Given the description of an element on the screen output the (x, y) to click on. 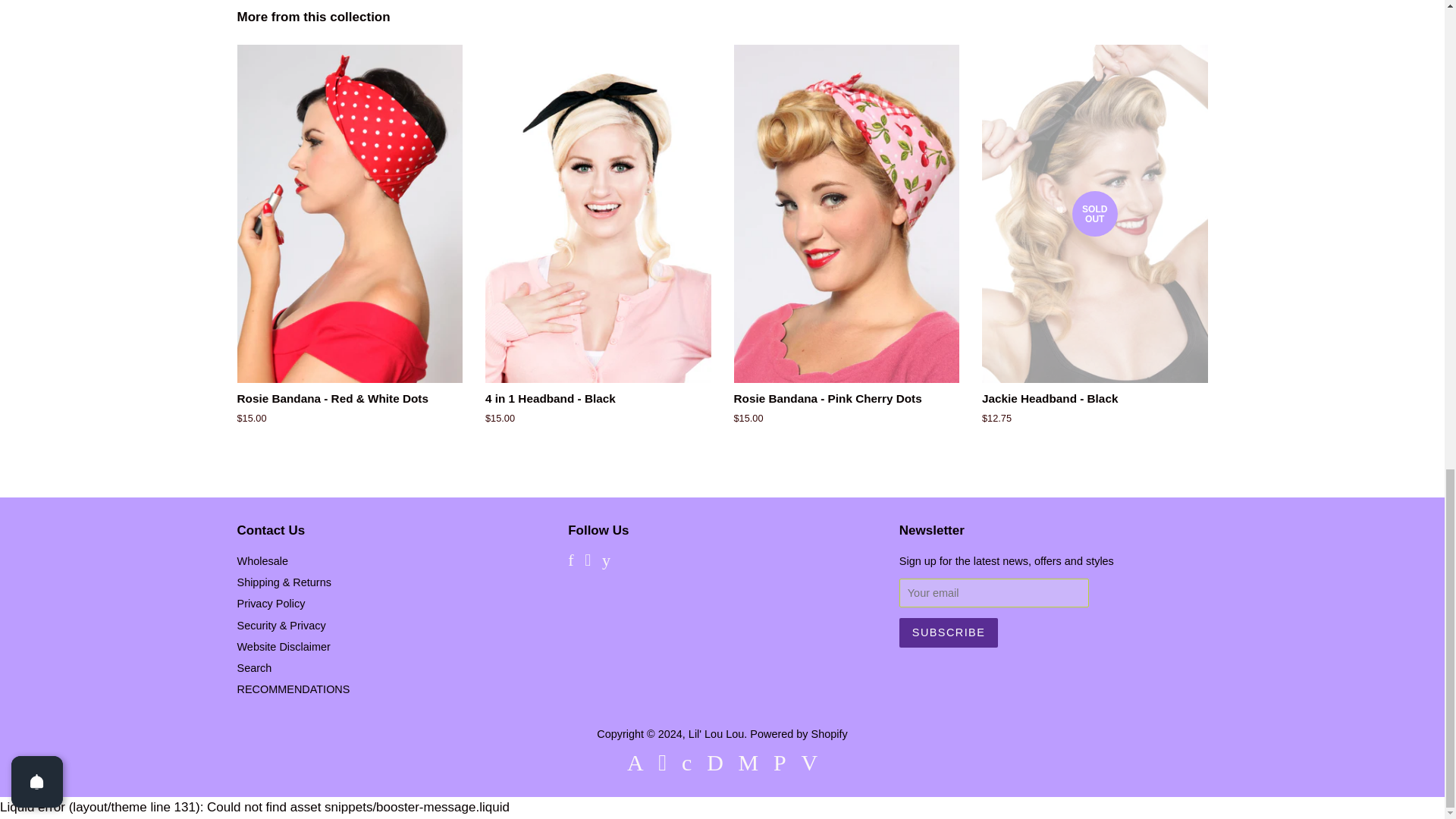
Subscribe (948, 632)
